Given the description of an element on the screen output the (x, y) to click on. 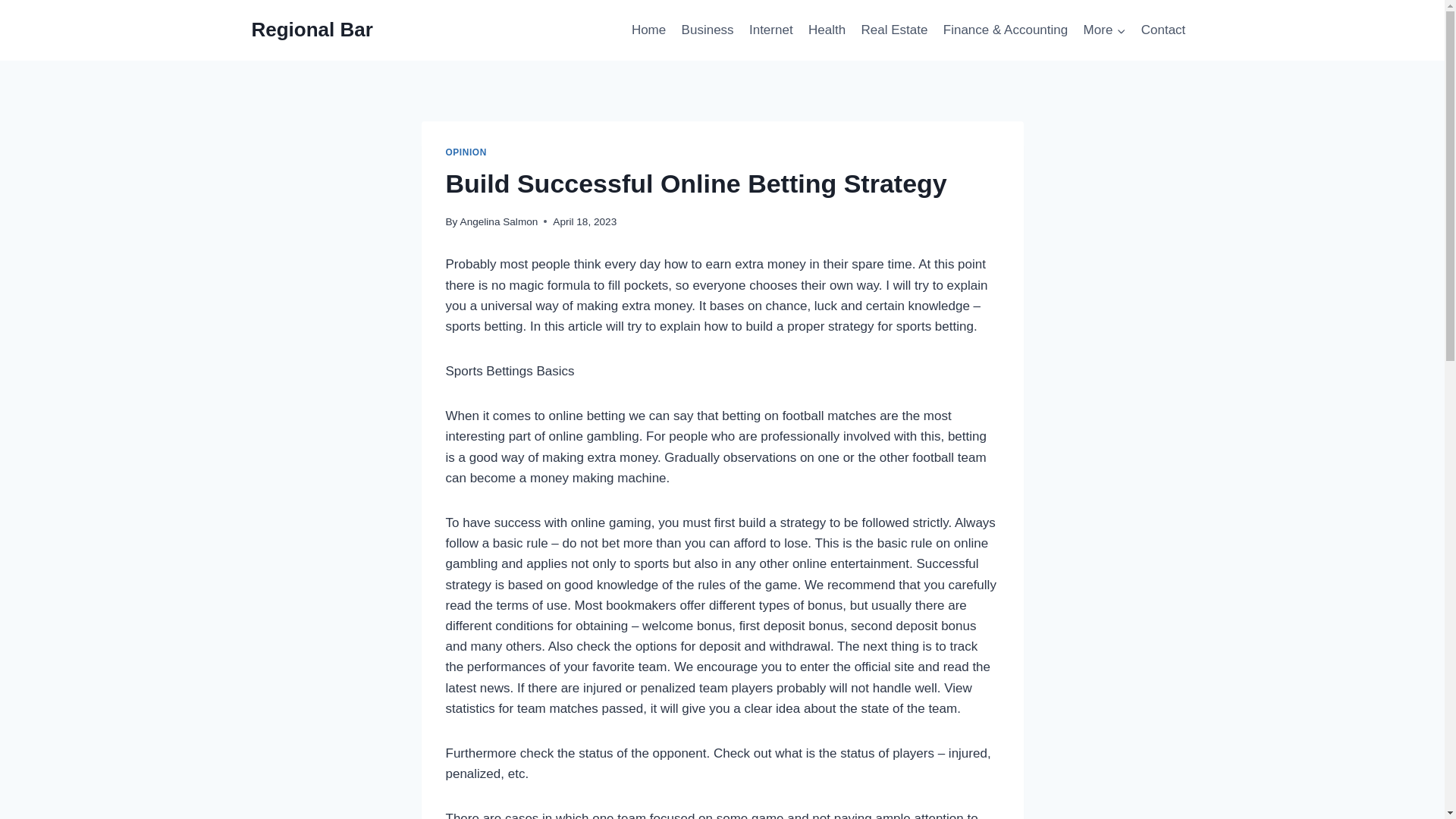
OPINION (465, 152)
Regional Bar (311, 29)
Real Estate (893, 30)
Health (826, 30)
Business (706, 30)
Angelina Salmon (499, 221)
Contact (1163, 30)
Home (649, 30)
Internet (770, 30)
More (1103, 30)
